Given the description of an element on the screen output the (x, y) to click on. 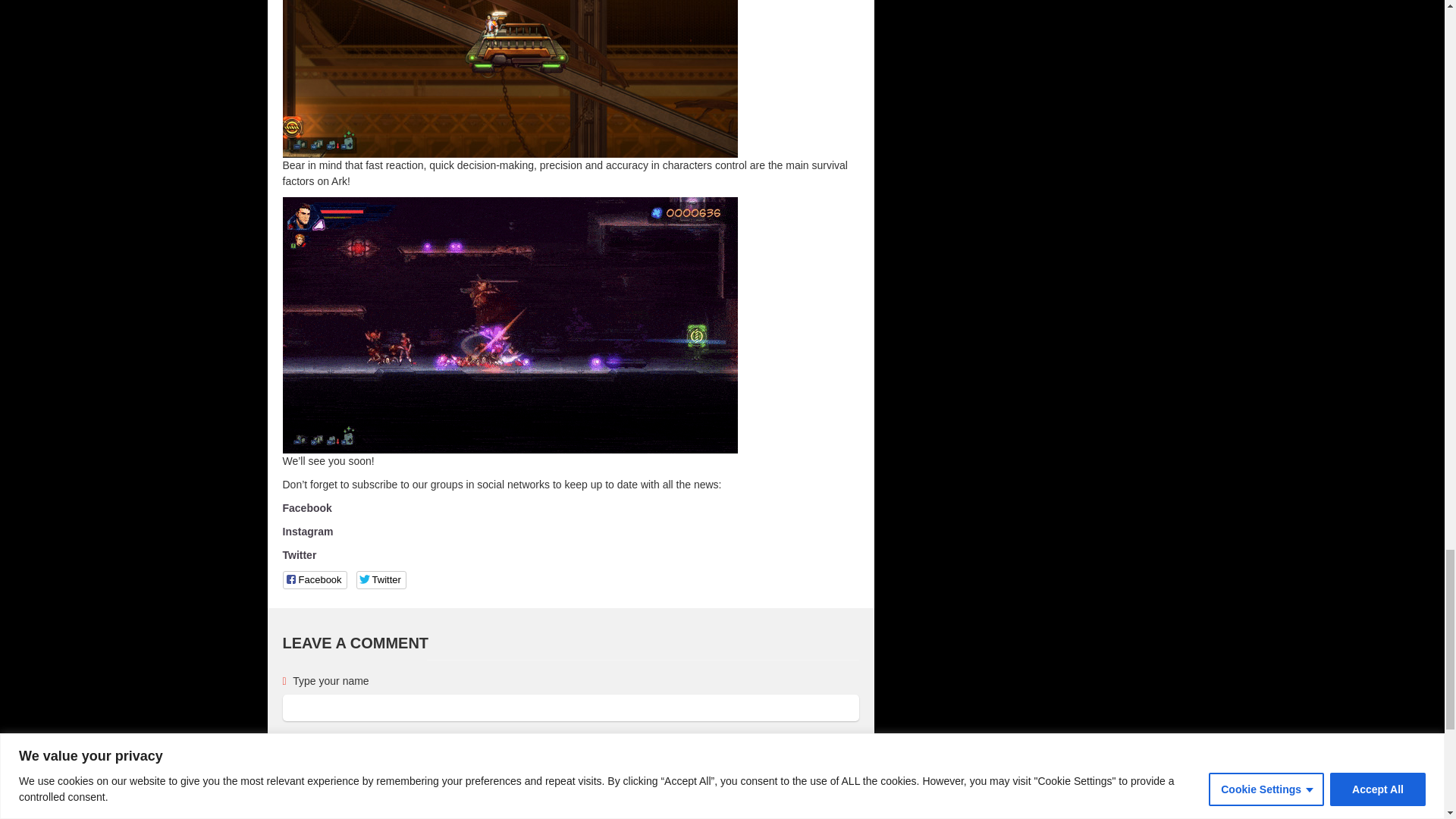
Share link on Facebook (314, 579)
Share link on Twitter (381, 579)
Twitter (298, 554)
Instagram (307, 531)
Facebook (306, 508)
